Given the description of an element on the screen output the (x, y) to click on. 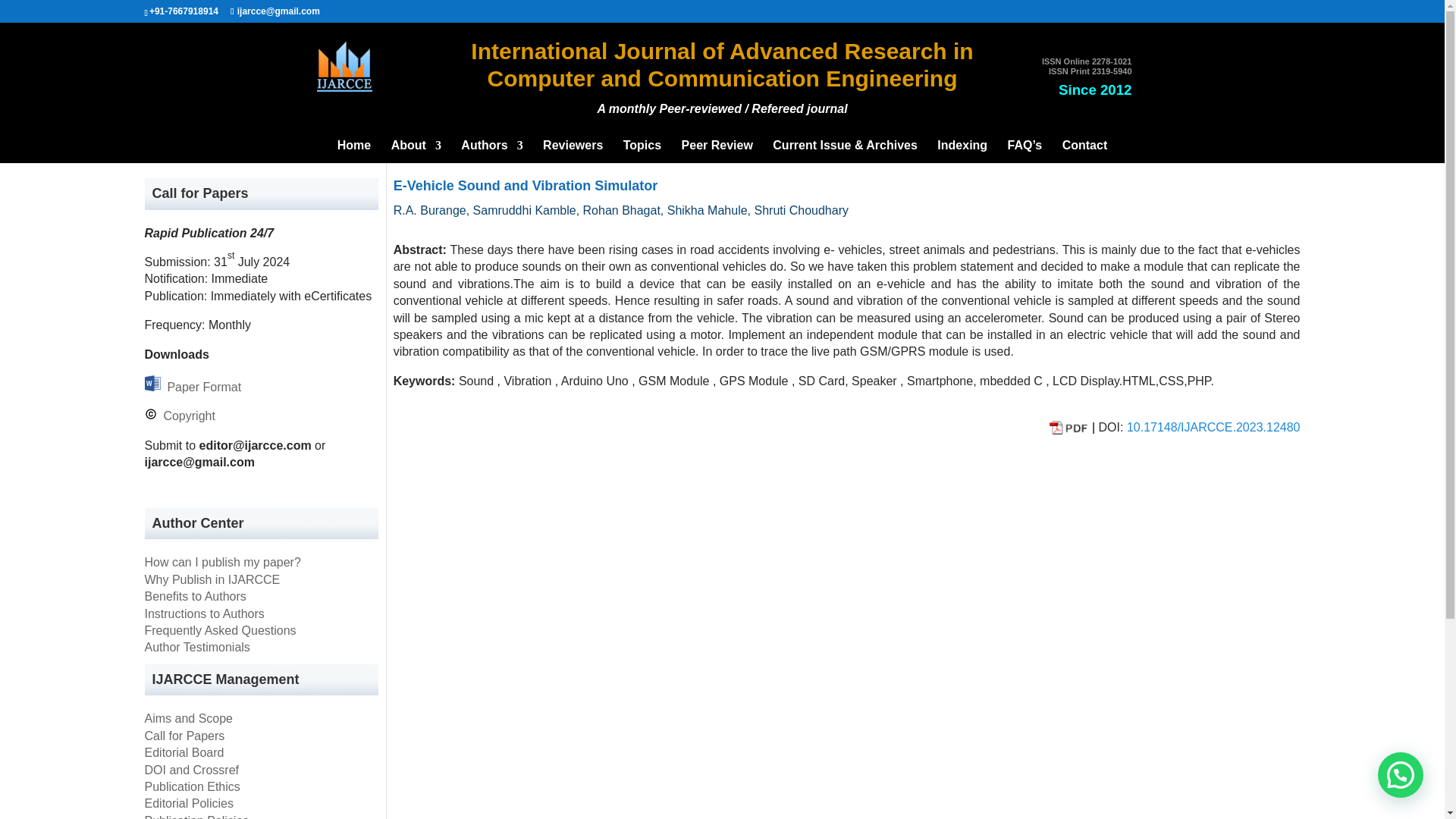
Reviewers (572, 151)
Peer Review (716, 151)
Indexing (962, 151)
Contact (1085, 151)
About (416, 151)
Home (354, 151)
Topics (642, 151)
Authors (491, 151)
